Given the description of an element on the screen output the (x, y) to click on. 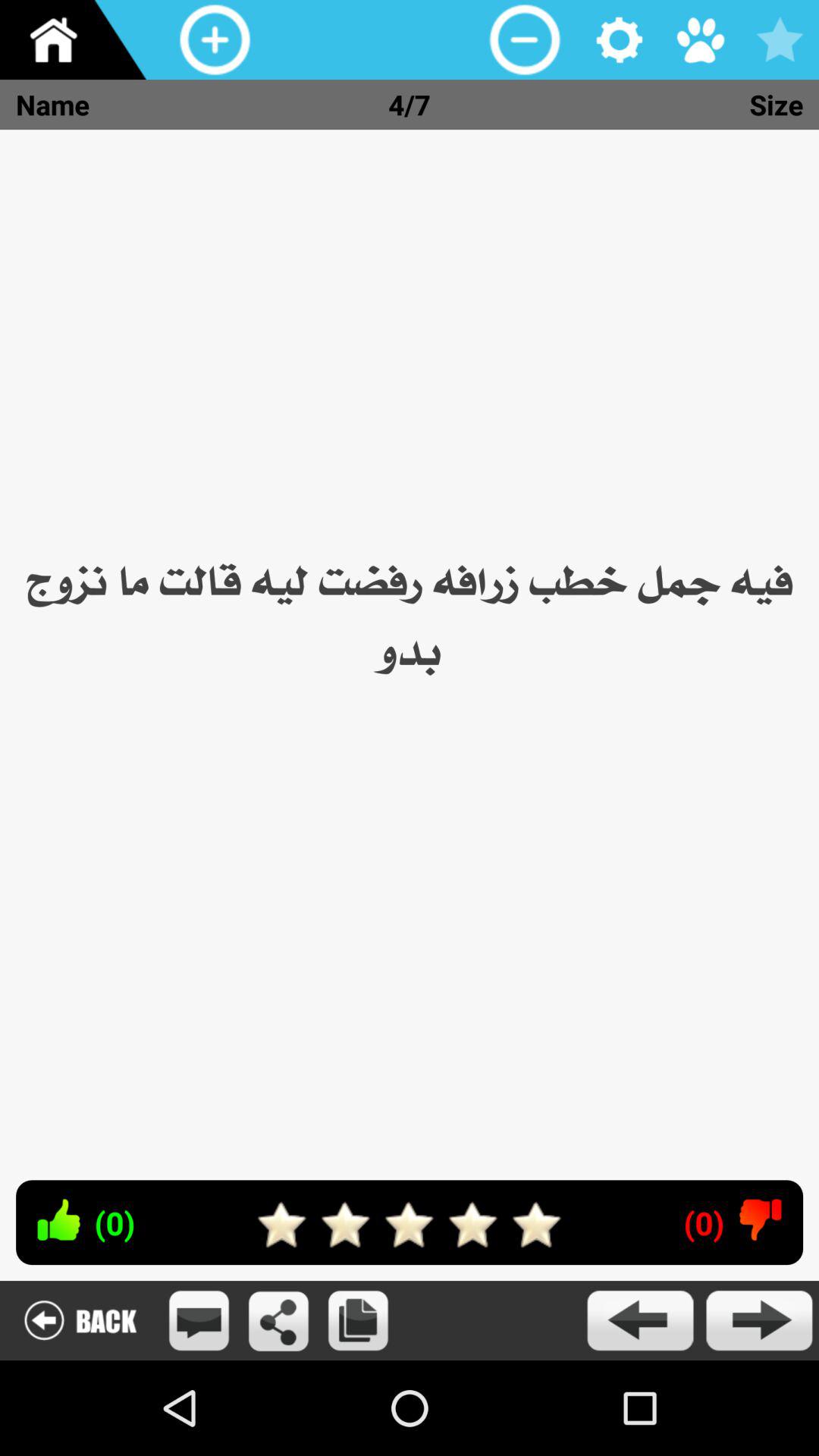
copy option (358, 1320)
